Given the description of an element on the screen output the (x, y) to click on. 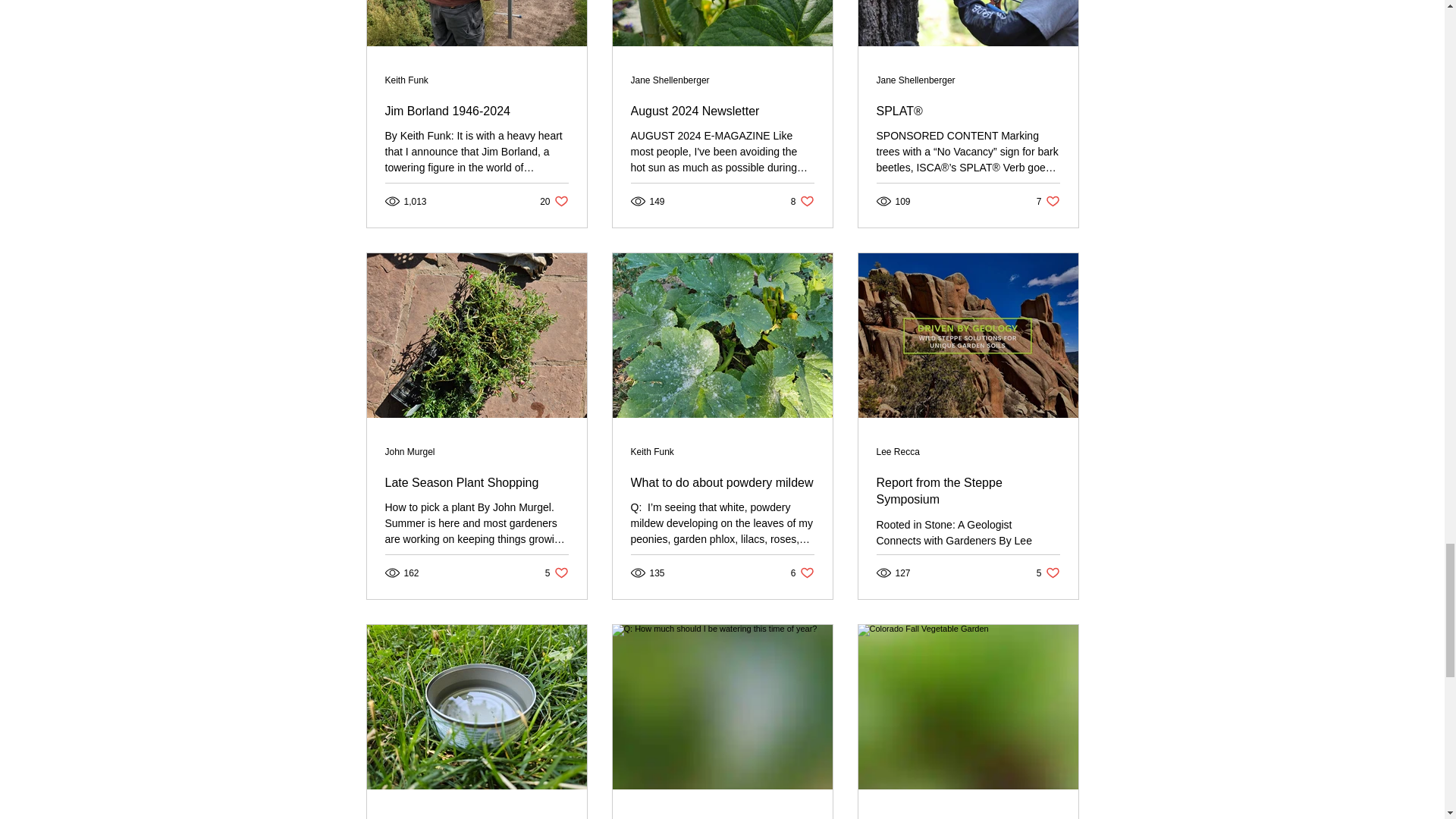
Jane Shellenberger (670, 80)
Lee Recca (898, 451)
Keith Funk (652, 818)
John Murgel (410, 451)
Keith Funk (898, 818)
August 2024 Newsletter (1047, 201)
Keith Funk (556, 572)
Keith Funk (721, 111)
